Given the description of an element on the screen output the (x, y) to click on. 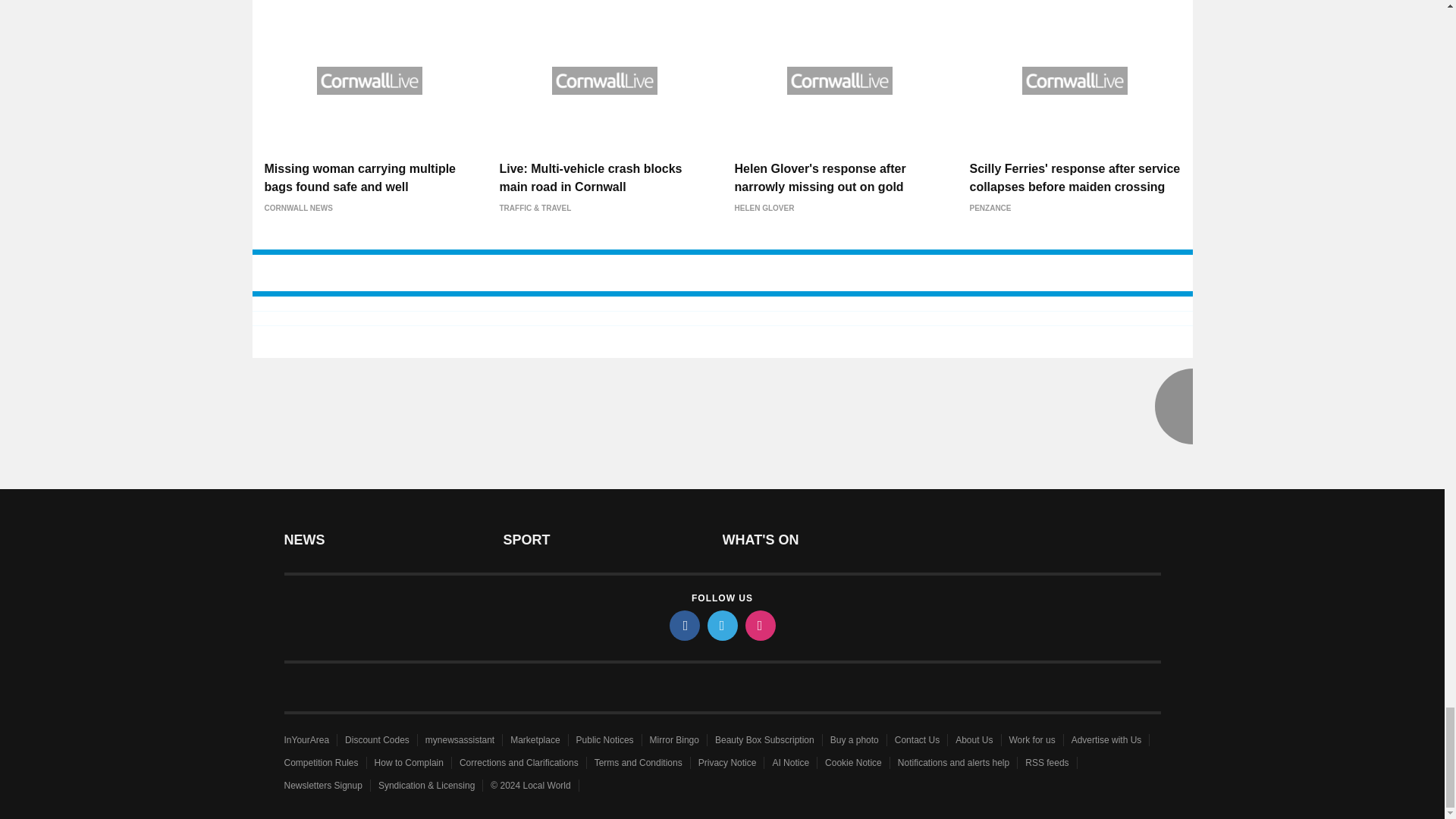
instagram (759, 625)
twitter (721, 625)
facebook (683, 625)
